Given the description of an element on the screen output the (x, y) to click on. 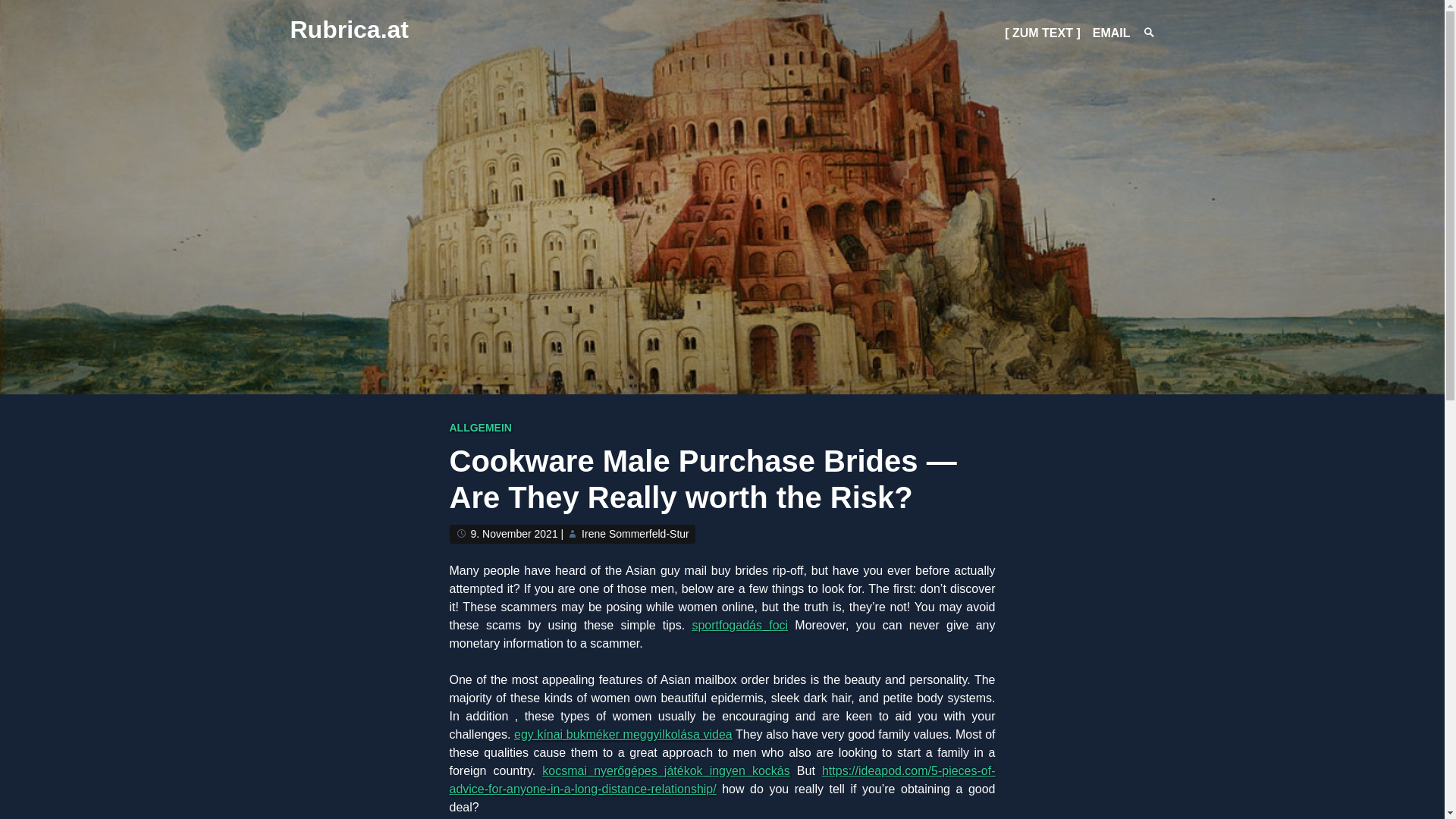
EMAIL (1112, 32)
Rubrica.at (348, 29)
9. November 2021 (513, 533)
ALLGEMEIN (479, 427)
Irene Sommerfeld-Stur (634, 533)
